Given the description of an element on the screen output the (x, y) to click on. 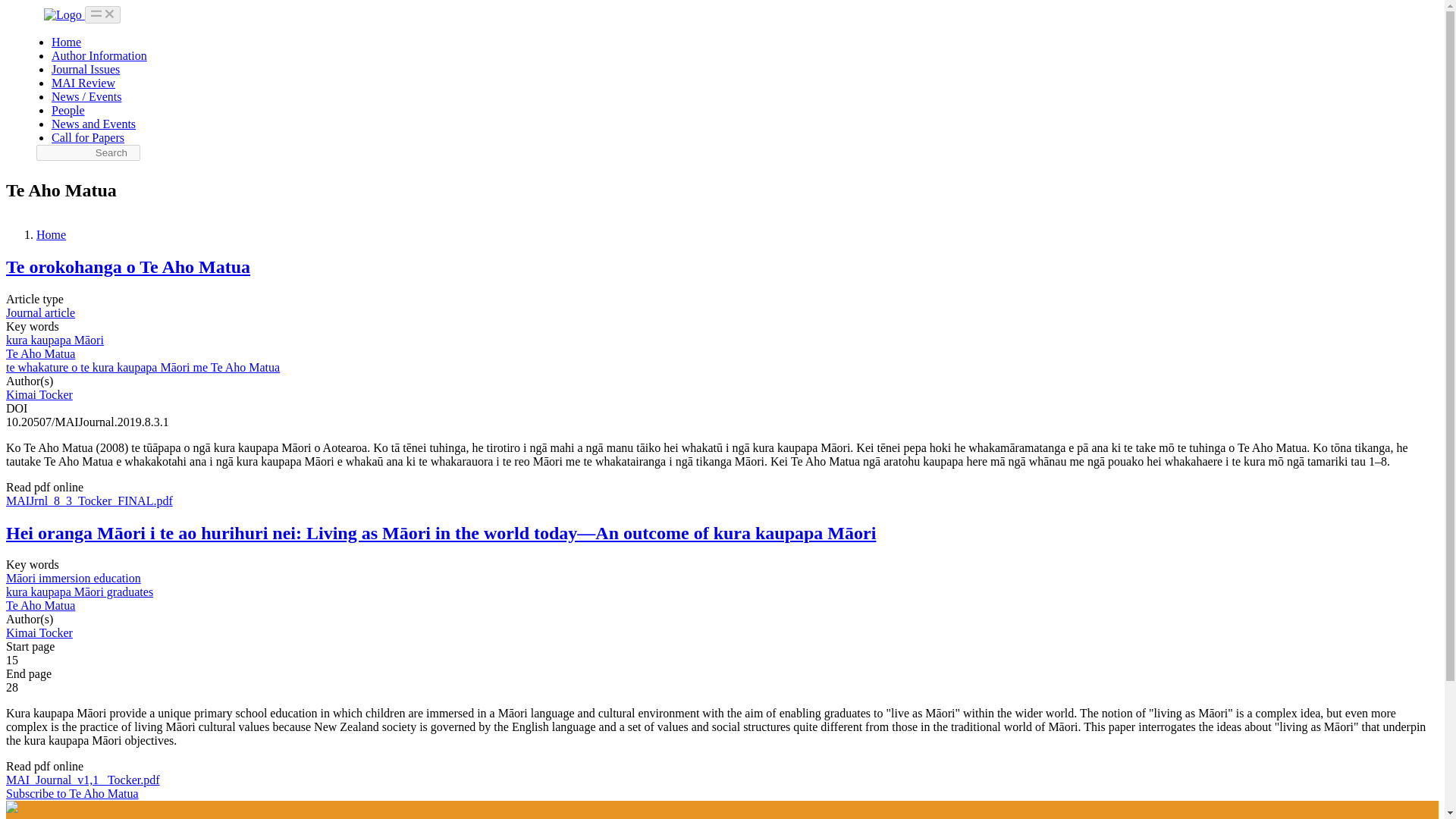
Home (65, 42)
People (67, 110)
Kimai Tocker (38, 632)
Te Aho Matua (40, 353)
Te orokohanga o Te Aho Matua (127, 266)
Home (50, 234)
News and Events (92, 123)
Call for Papers (86, 137)
MAI Review (82, 82)
